Given the description of an element on the screen output the (x, y) to click on. 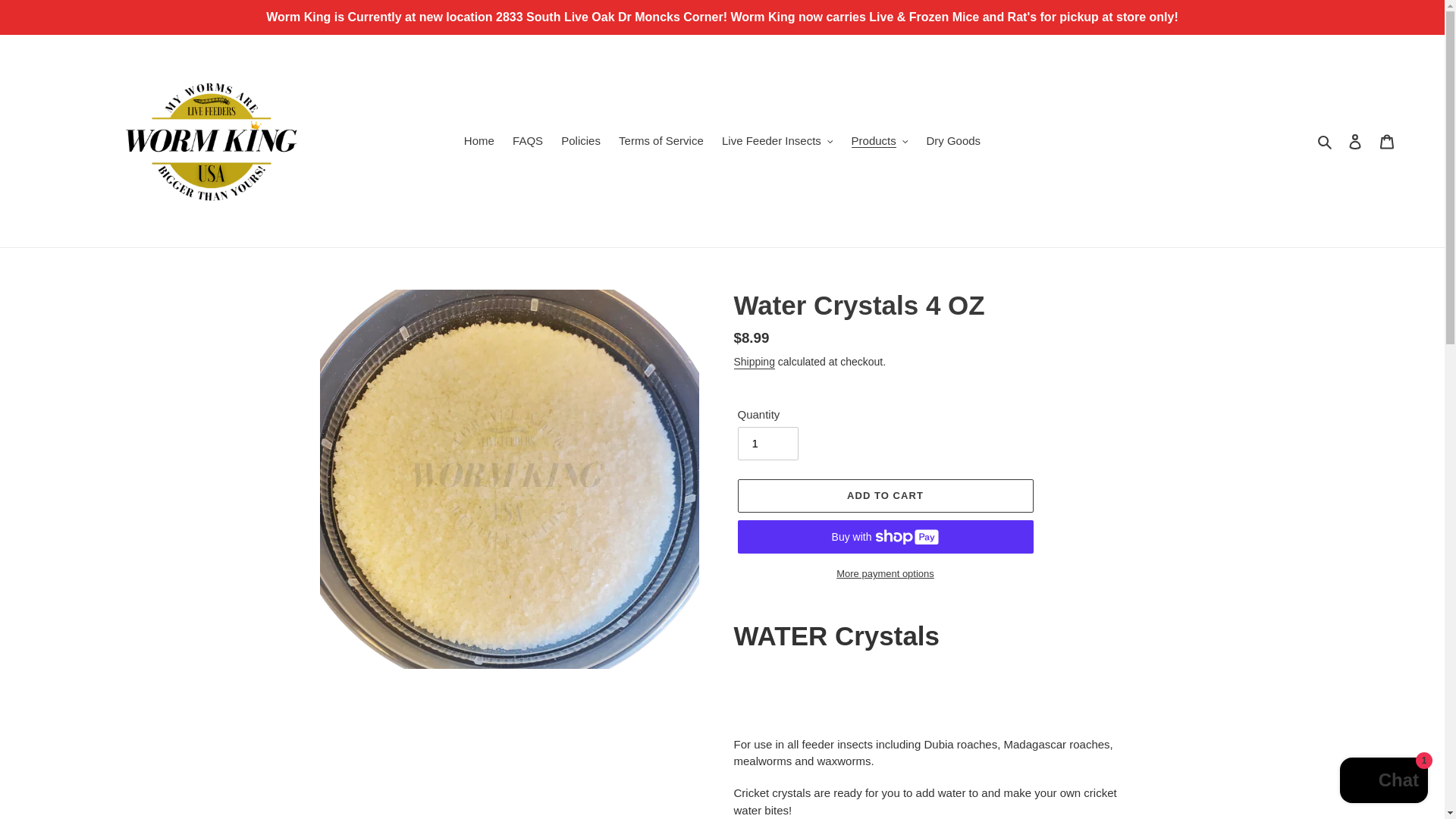
Search (1326, 140)
1 (766, 443)
FAQS (527, 141)
Shopify online store chat (1383, 781)
Cart (1387, 141)
Products (879, 141)
Live Feeder Insects (777, 141)
Home (479, 141)
Policies (580, 141)
Terms of Service (661, 141)
Dry Goods (953, 141)
Log in (1355, 141)
